Given the description of an element on the screen output the (x, y) to click on. 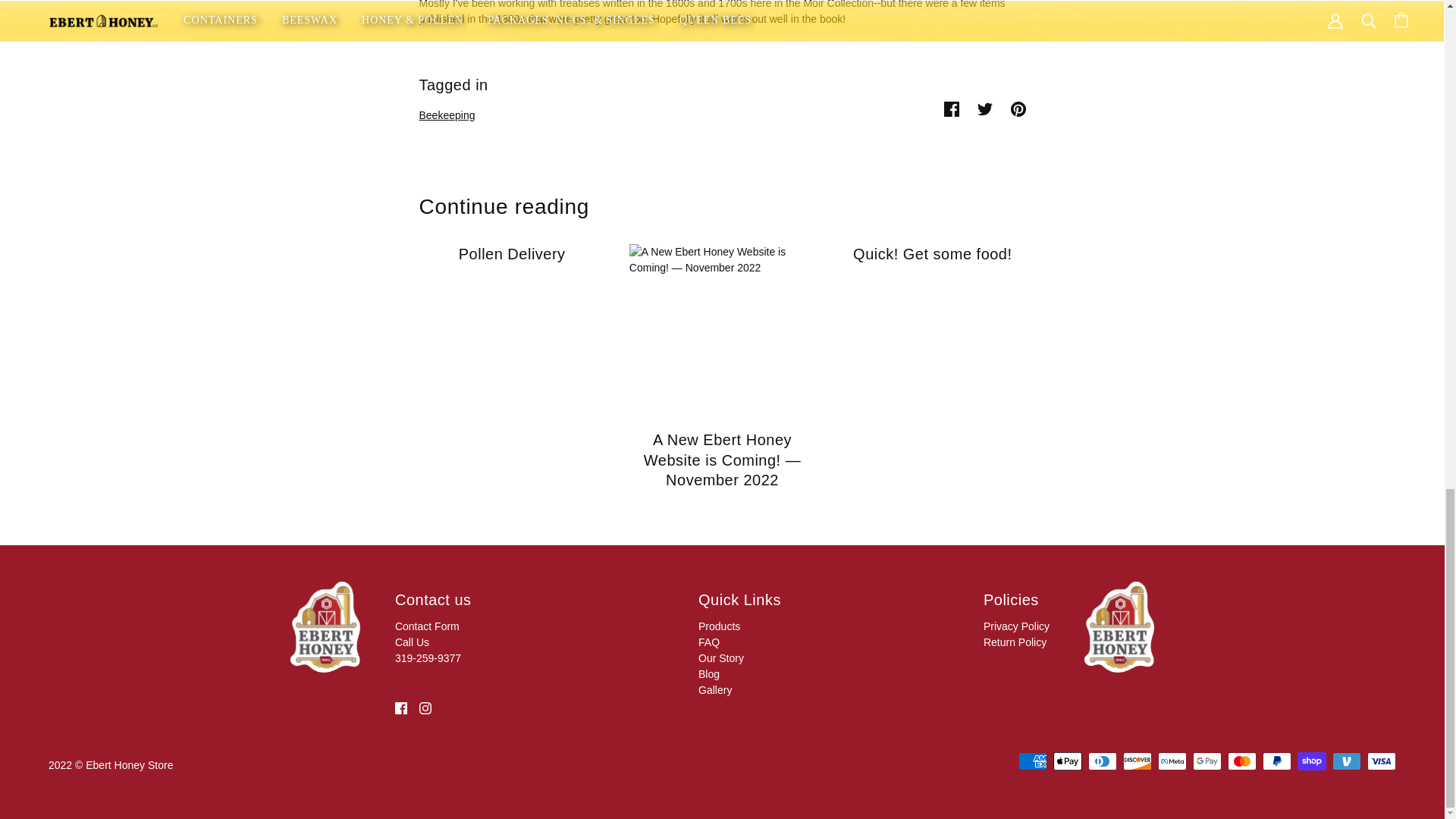
Beekeeping (446, 114)
Mastercard (1241, 761)
Discover (1136, 761)
Blog (708, 674)
Products (718, 625)
Gallery (715, 689)
Products (718, 625)
FAQ (708, 642)
Privacy Policy (1016, 625)
Our Story (721, 657)
